Given the description of an element on the screen output the (x, y) to click on. 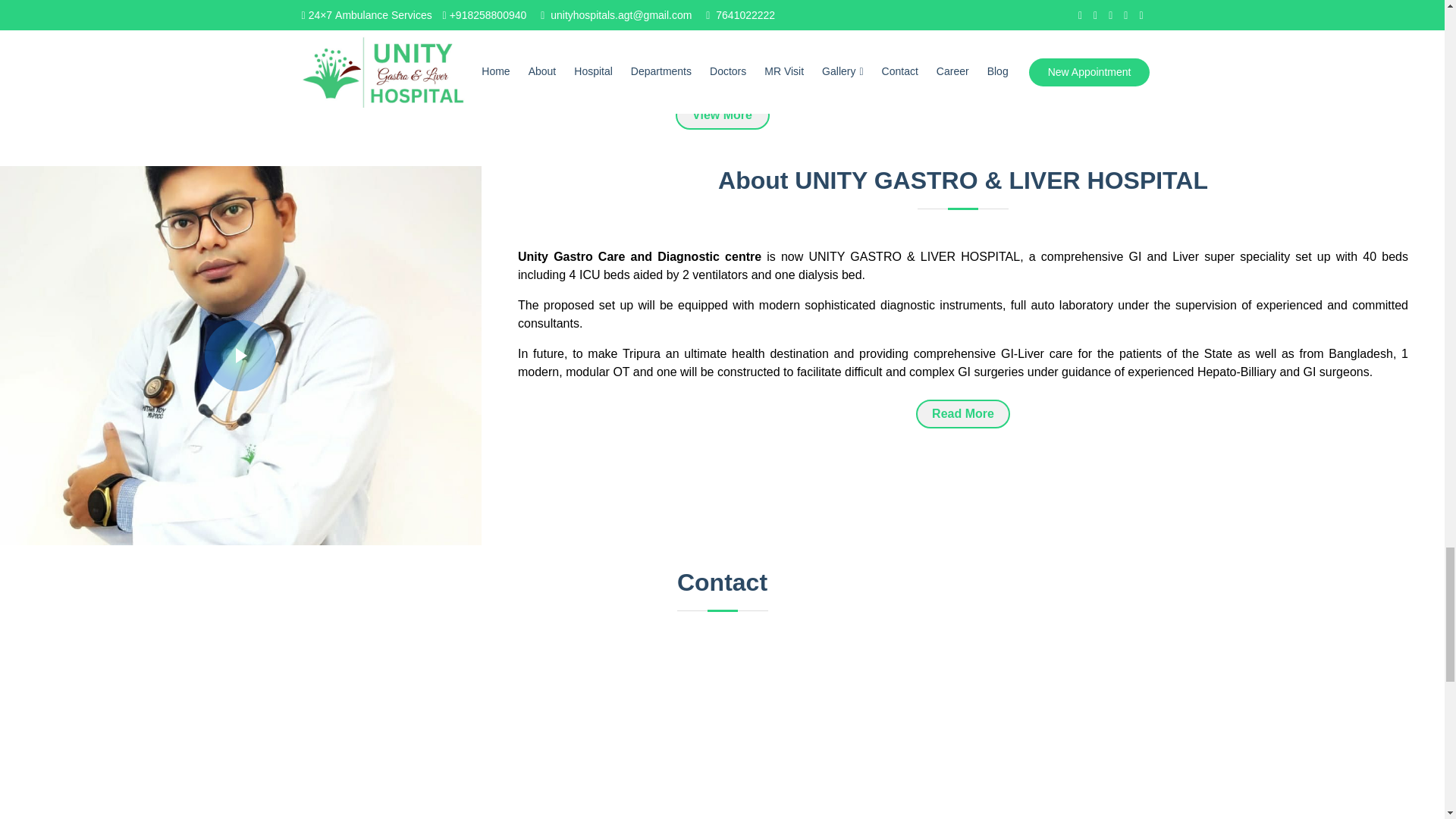
Gallery2 (493, 3)
Gallery1 (150, 3)
Gallery5 (1186, 3)
Gallery4 (832, 3)
